Given the description of an element on the screen output the (x, y) to click on. 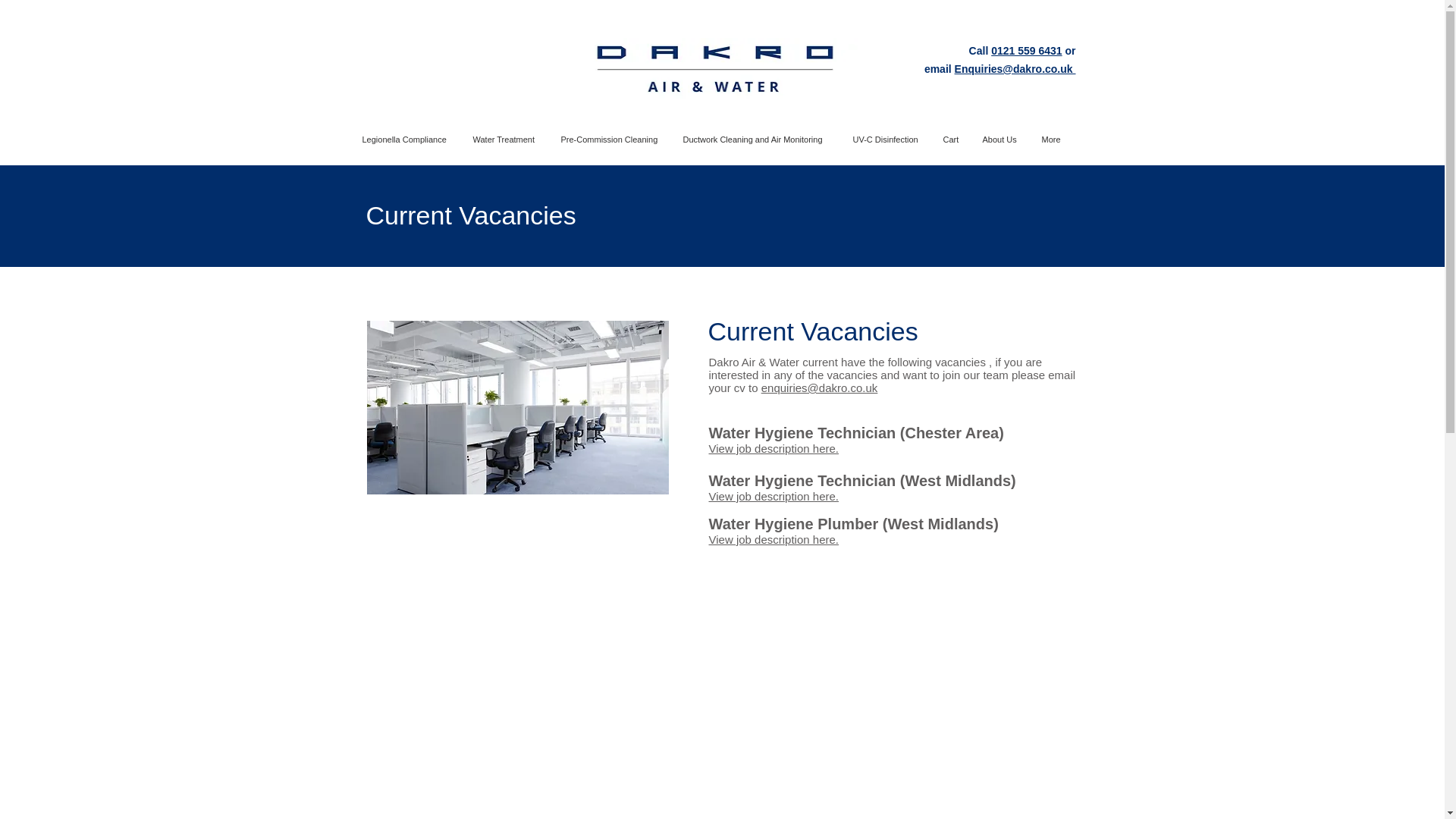
Cart (951, 139)
0121 559 6431 (1026, 50)
Dakro Air and water (715, 68)
